Given the description of an element on the screen output the (x, y) to click on. 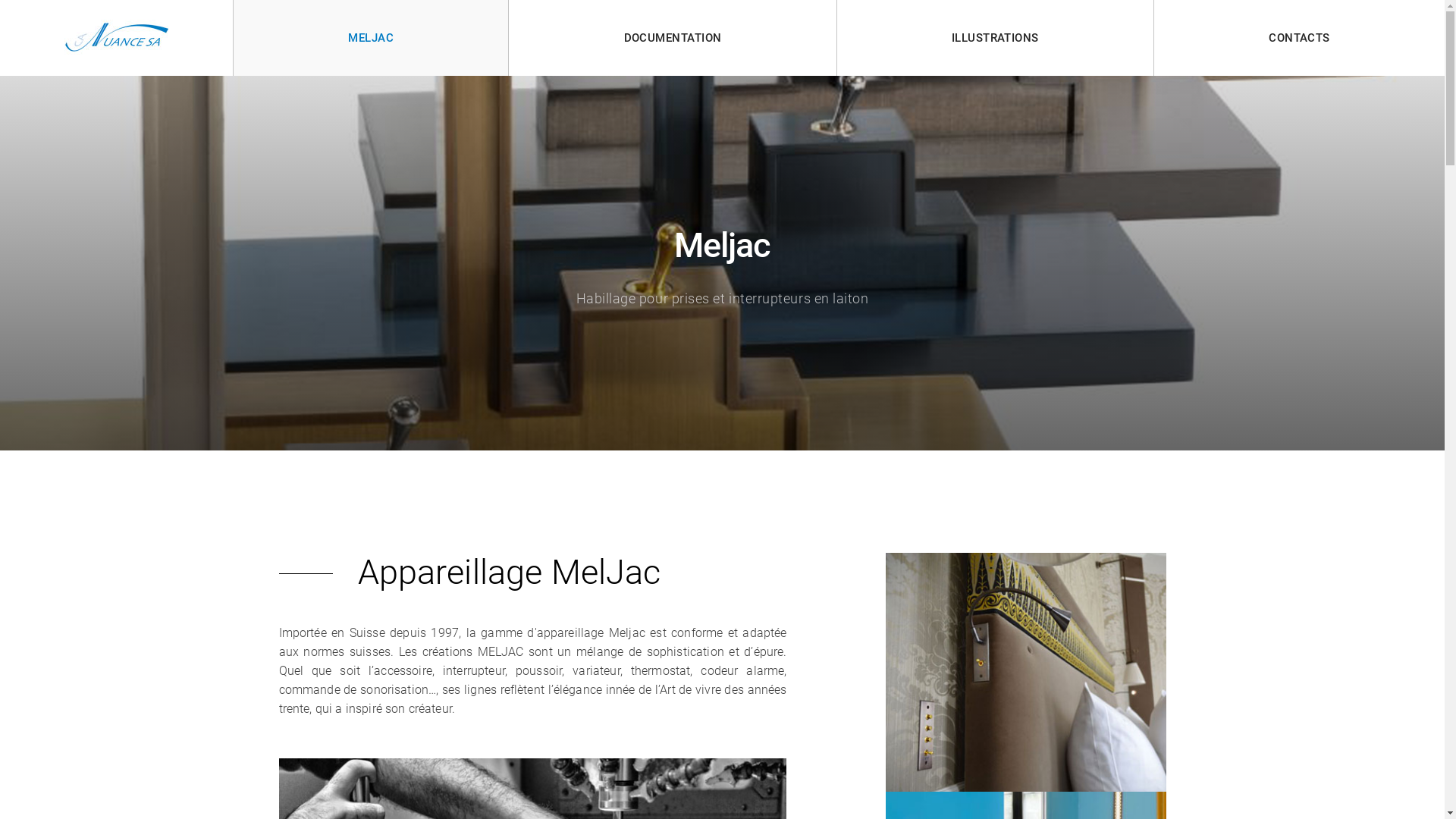
CONTACTS Element type: text (1299, 37)
MELJAC Element type: text (370, 37)
ILLUSTRATIONS Element type: text (995, 37)
DOCUMENTATION Element type: text (671, 37)
